Given the description of an element on the screen output the (x, y) to click on. 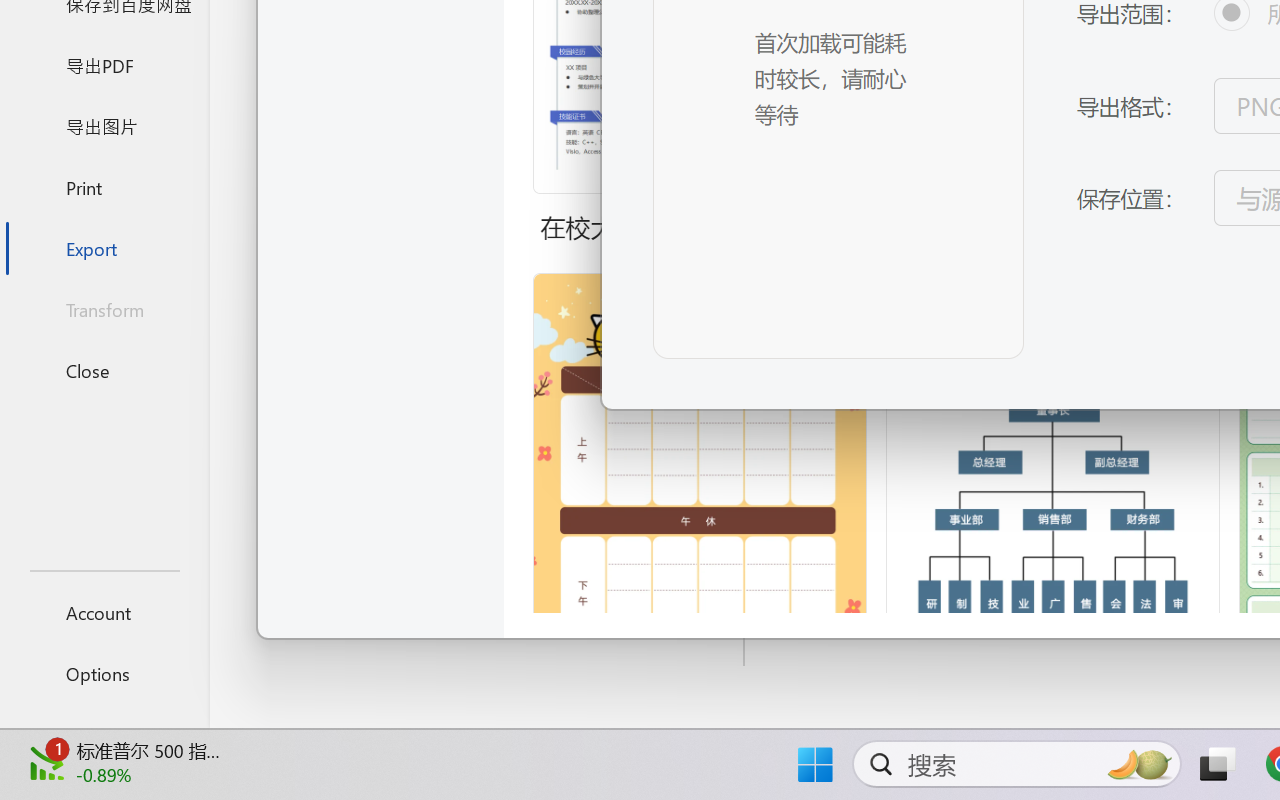
Print (104, 186)
Account (104, 612)
Options (104, 673)
Export (104, 248)
Transform (104, 309)
